Given the description of an element on the screen output the (x, y) to click on. 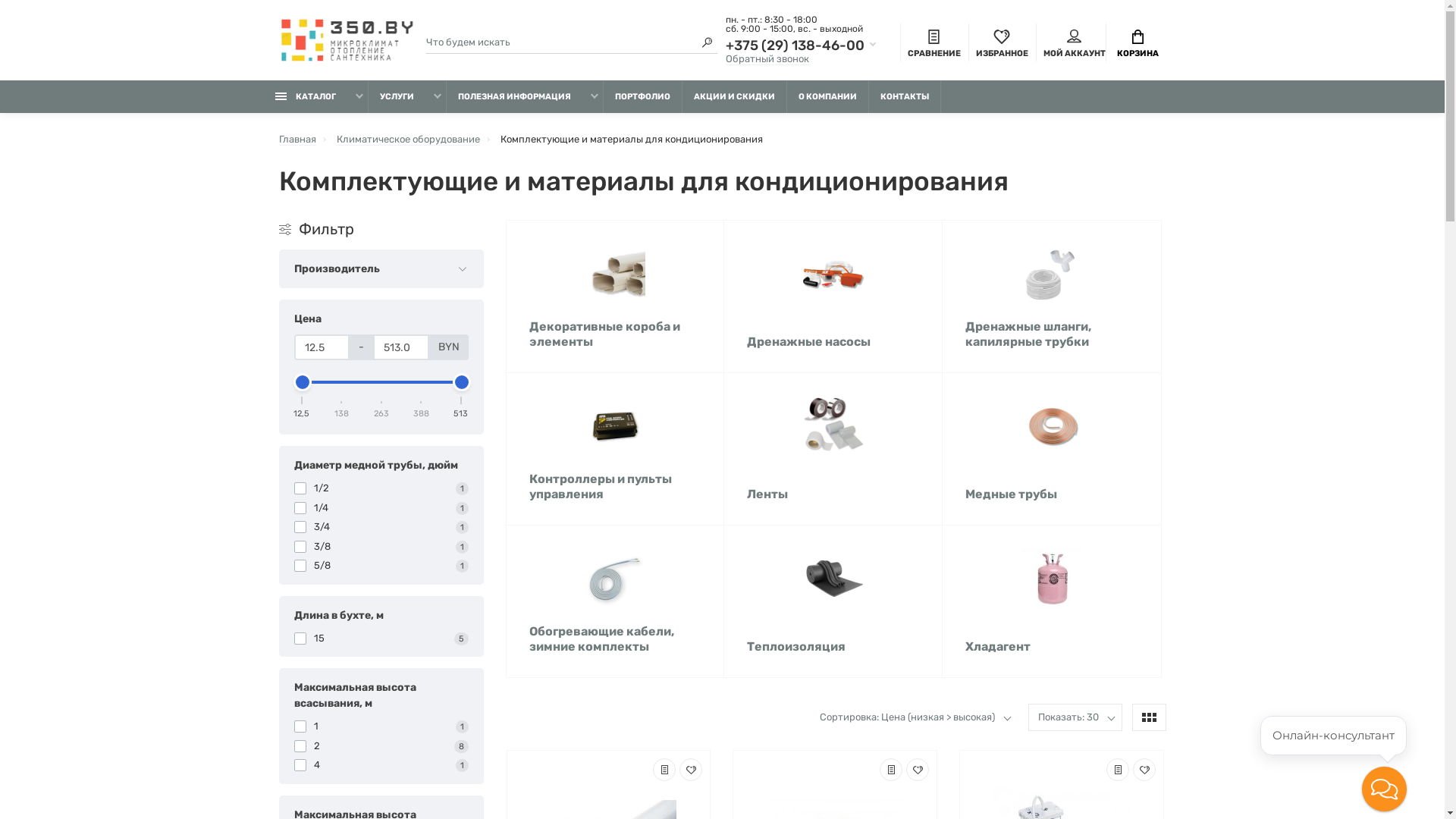
1/4
1 Element type: text (381, 507)
15
5 Element type: text (381, 638)
2
8 Element type: text (381, 745)
1
1 Element type: text (381, 726)
4
1 Element type: text (381, 764)
1/2
1 Element type: text (381, 487)
3/8
1 Element type: text (381, 545)
3/4
1 Element type: text (381, 526)
350.by Element type: hover (345, 41)
+375 (29) 138-46-00 Element type: text (800, 45)
5/8
1 Element type: text (381, 565)
